Given the description of an element on the screen output the (x, y) to click on. 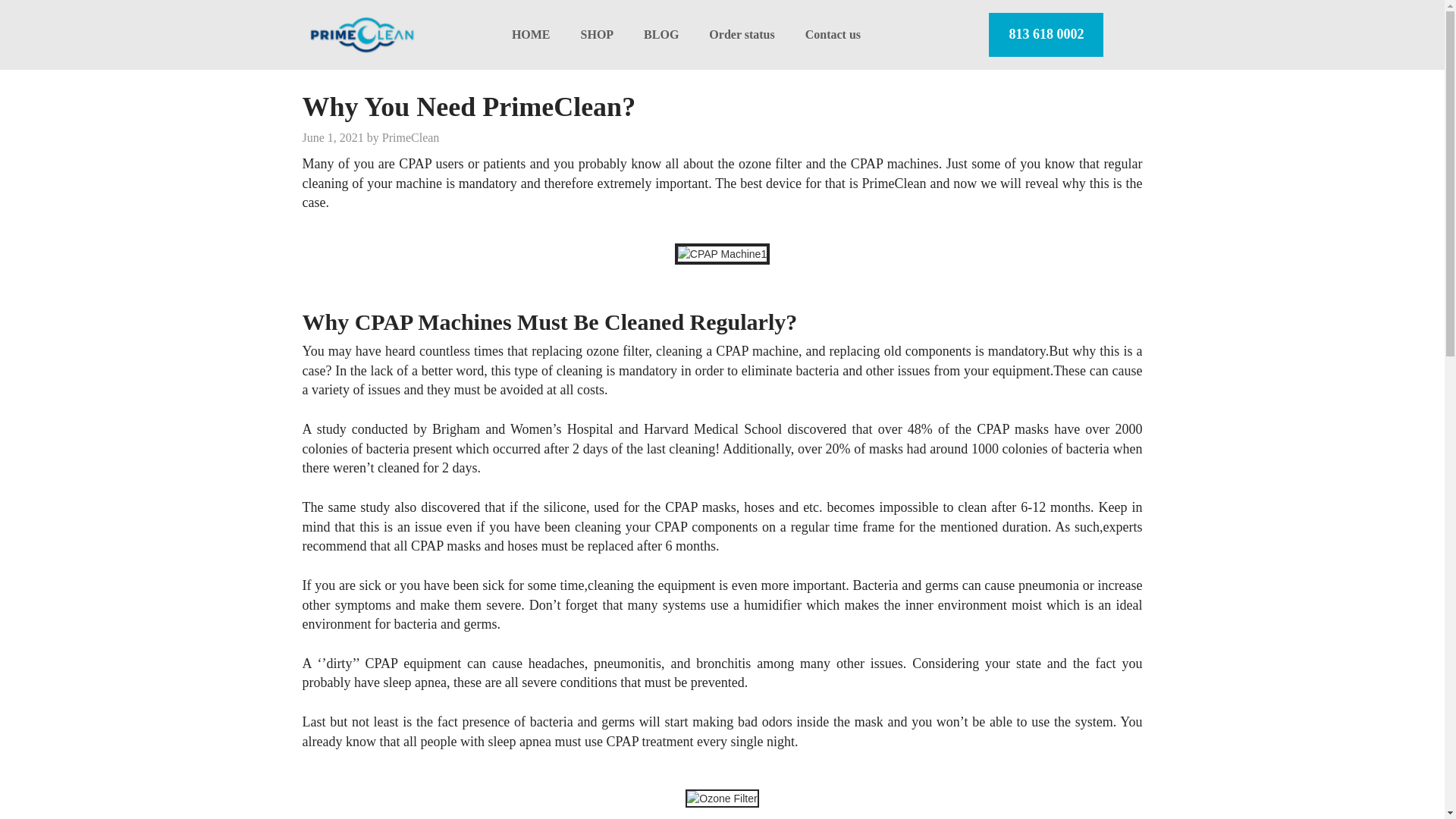
Order status (741, 34)
813 618 0002 (1045, 34)
Order status (741, 34)
HOME (531, 34)
SHOP (597, 34)
HOME (531, 34)
BLOG (661, 34)
Contact us (833, 34)
SHOP (597, 34)
BLOG (661, 34)
Contact us (833, 34)
